Given the description of an element on the screen output the (x, y) to click on. 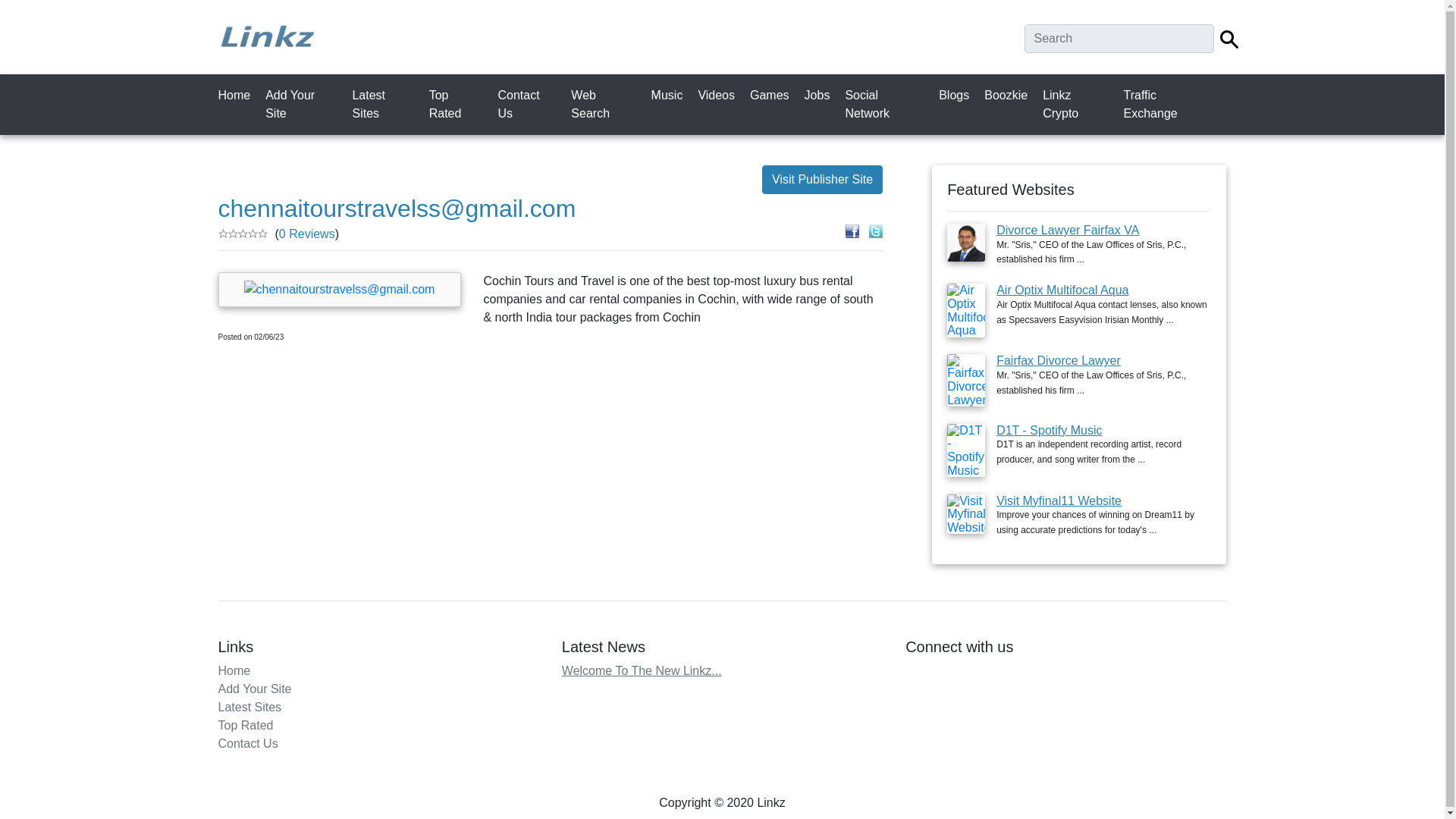
Contact Us (529, 104)
Home (234, 670)
Add Your Site (303, 104)
Traffic Exchange (1170, 104)
Boozkie (1008, 95)
Divorce Lawyer Fairfax VA (1066, 229)
Add Your Site (255, 688)
Contact Us (248, 743)
Air Optix Multifocal Aqua (1061, 289)
Jobs (820, 95)
